Given the description of an element on the screen output the (x, y) to click on. 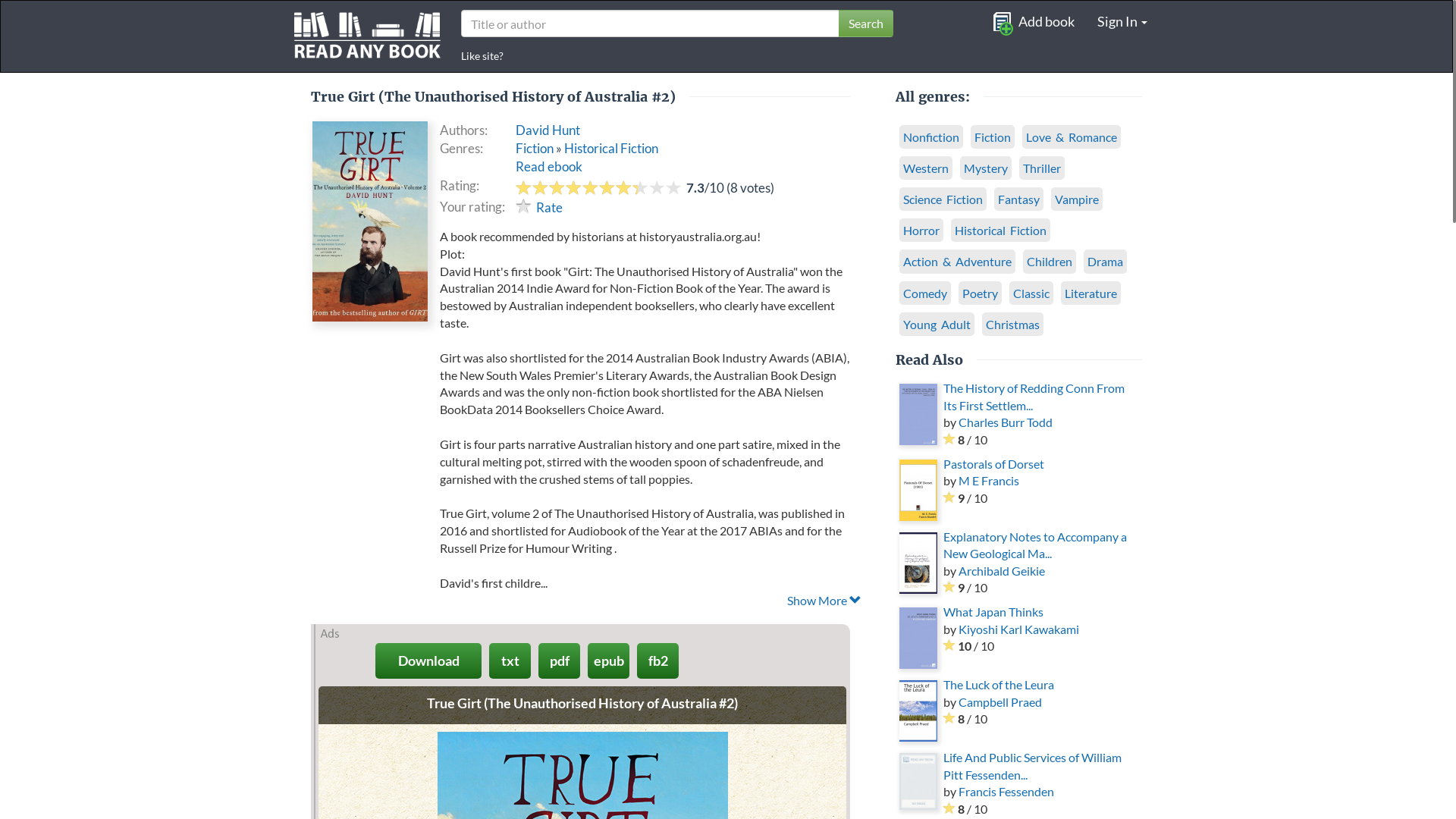
Young Adult Element type: text (936, 323)
M E Francis Element type: text (988, 480)
Science Fiction Element type: text (942, 198)
Horror Element type: text (921, 229)
Fiction Element type: text (992, 136)
Pastorals of Dorset Element type: text (993, 463)
Fantasy Element type: text (1018, 198)
Historical Fiction Element type: text (1000, 229)
Explanatory Notes to Accompany a New Geological Ma... Element type: text (1034, 544)
The Luck of the Leura Element type: text (998, 684)
Mystery Element type: text (985, 167)
Sign In Element type: text (1121, 21)
fb2 Element type: text (657, 660)
Comedy Element type: text (924, 292)
Archibald Geikie Element type: text (1001, 570)
Thriller Element type: text (1041, 167)
Download Element type: text (428, 660)
Vampire Element type: text (1076, 198)
The History of Redding Conn From Its First Settlem... Element type: text (1033, 395)
Poetry Element type: text (979, 292)
Life And Public Services of William Pitt Fessenden... Element type: text (1032, 765)
What Japan Thinks online Element type: hover (918, 637)
Western Element type: text (925, 167)
Love & Romance Element type: text (1071, 136)
txt Element type: text (509, 660)
Francis Fessenden Element type: text (1006, 791)
Literature Element type: text (1090, 292)
Rate Element type: text (539, 207)
Nonfiction Element type: text (931, 136)
Christmas Element type: text (1012, 323)
Action & Adventure Element type: text (957, 261)
Drama Element type: text (1104, 261)
Show More Element type: text (649, 600)
What Japan Thinks Element type: text (993, 611)
Kiyoshi Karl Kawakami Element type: text (1018, 628)
Children Element type: text (1049, 261)
Fiction Element type: text (534, 148)
Campbell Praed Element type: text (999, 701)
Search Element type: text (865, 23)
Add book Element type: text (1032, 21)
Pastorals of Dorset online Element type: hover (918, 489)
Historical Fiction Element type: text (611, 148)
Charles Burr Todd Element type: text (1005, 421)
Read ebook Element type: text (548, 166)
The Luck of the Leura online Element type: hover (918, 710)
David Hunt Element type: text (547, 130)
epub Element type: text (608, 660)
pdf Element type: text (559, 660)
Classic Element type: text (1031, 292)
